Given the description of an element on the screen output the (x, y) to click on. 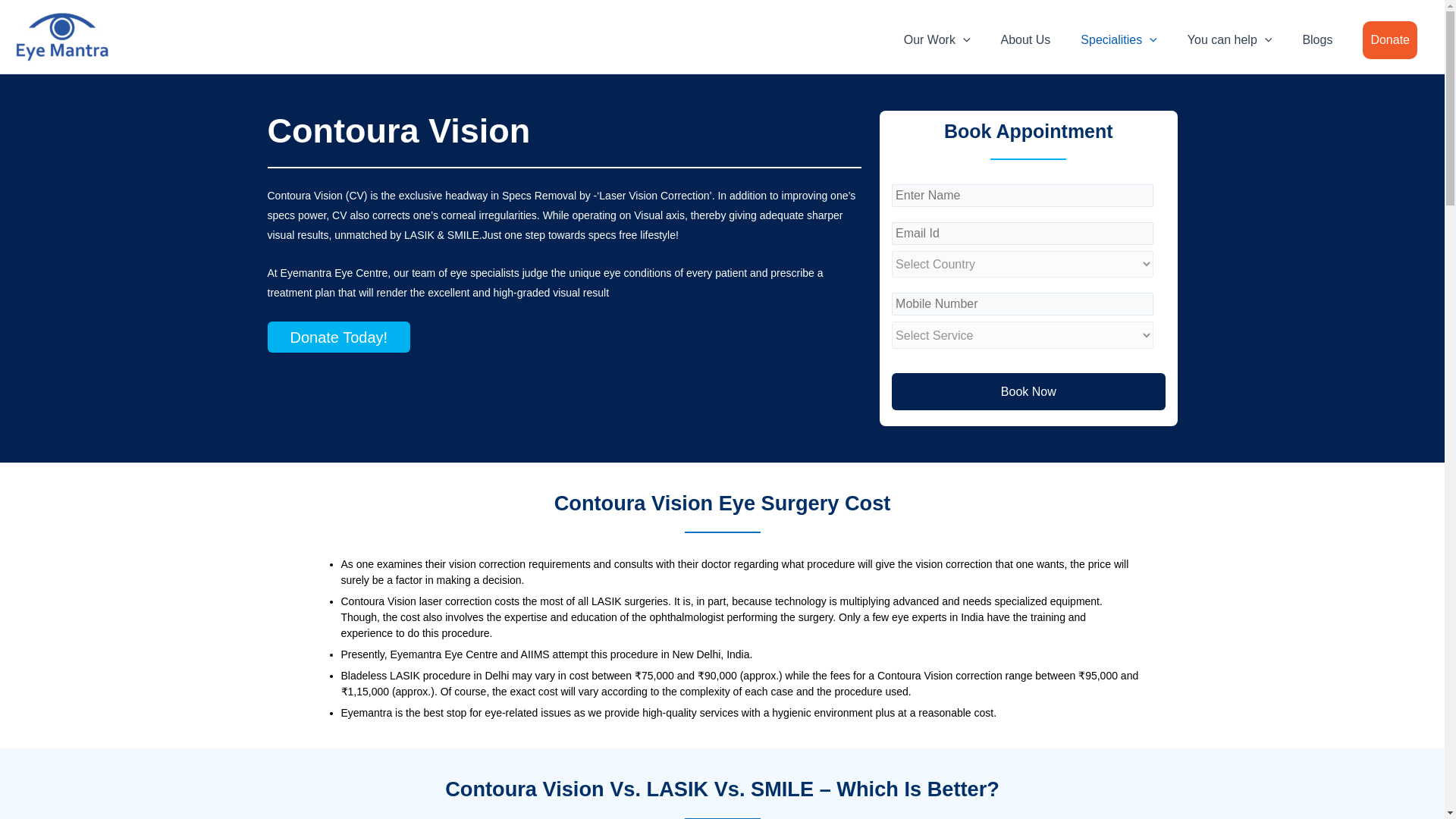
You can help (1229, 39)
Book Now (1027, 392)
Blogs (1316, 39)
About Us (1025, 39)
Specialities (1118, 39)
Donate (1390, 39)
Our Work (936, 39)
